Given the description of an element on the screen output the (x, y) to click on. 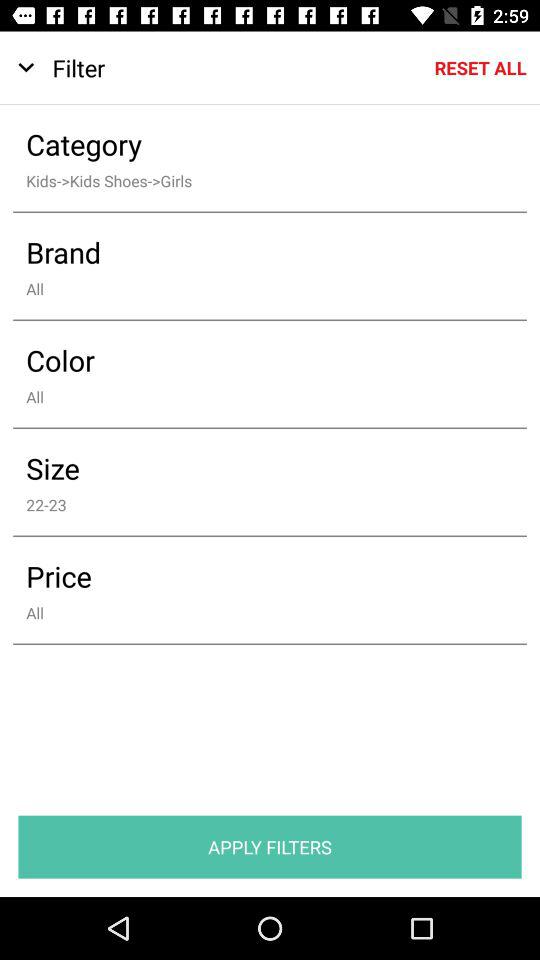
swipe to brand (256, 251)
